Given the description of an element on the screen output the (x, y) to click on. 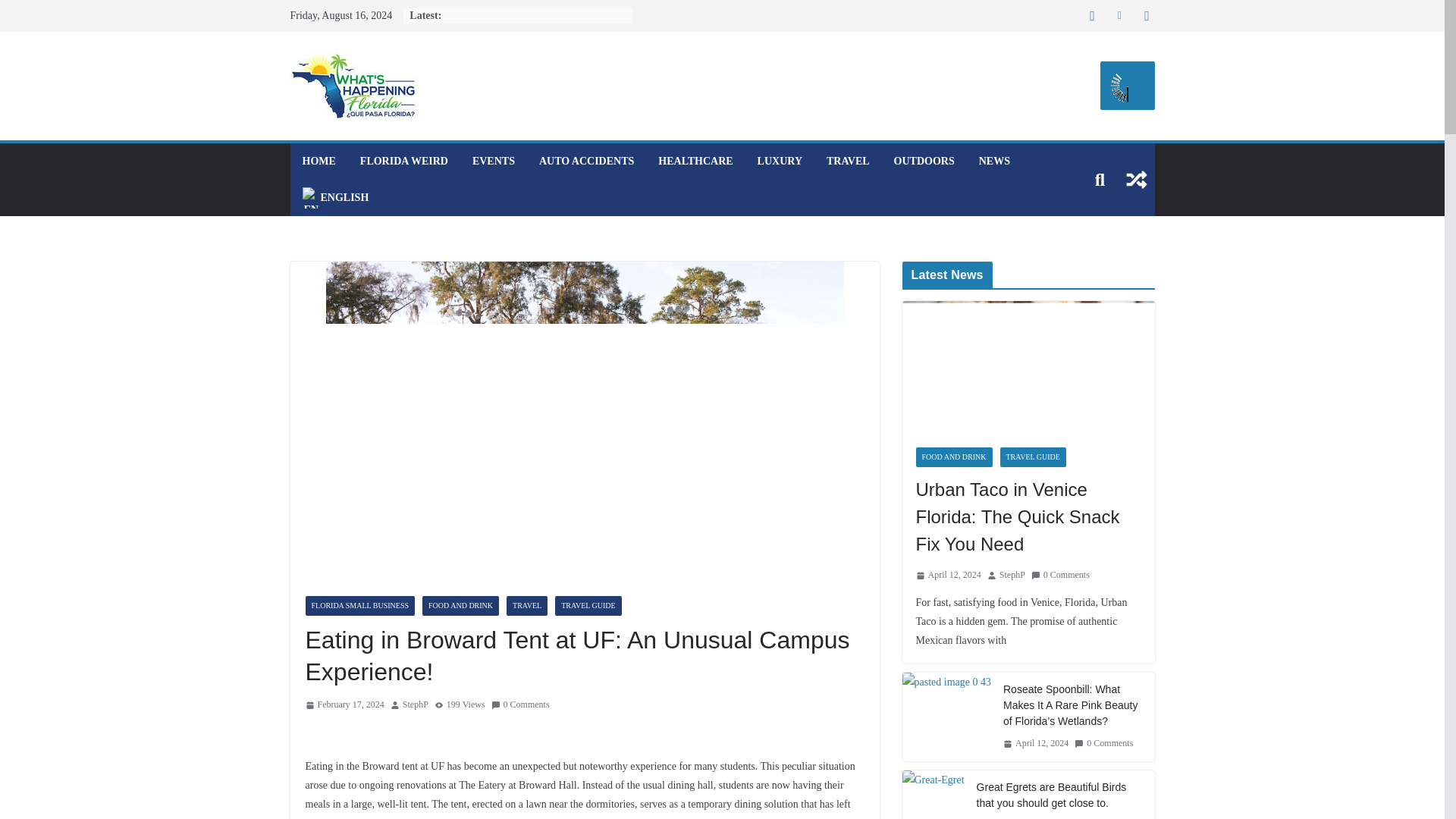
StephP (415, 704)
NEWS (994, 160)
Urban Taco in Venice Florida: The Quick Snack Fix You Need (1028, 367)
TRAVEL (526, 605)
FLORIDA WEIRD (403, 160)
OUTDOORS (924, 160)
HOME (317, 160)
HEALTHCARE (695, 160)
February 17, 2024 (344, 704)
FOOD AND DRINK (460, 605)
